Given the description of an element on the screen output the (x, y) to click on. 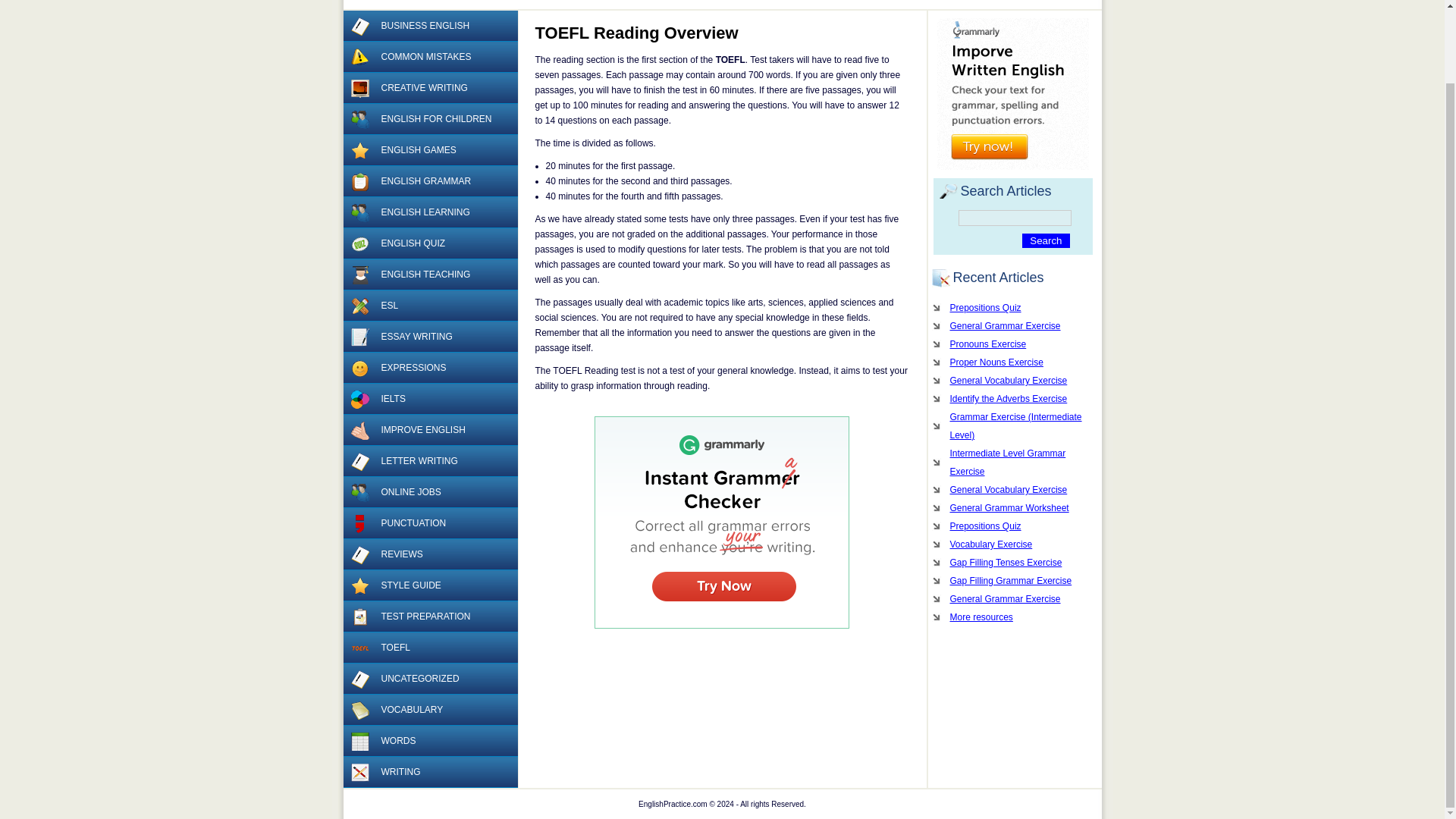
STYLE GUIDE (429, 585)
WRITING (429, 771)
ENGLISH GAMES (429, 150)
WORDS (429, 740)
COMMON MISTAKES (429, 56)
REVIEWS (429, 554)
Pronouns Exercise (1012, 343)
CREATIVE WRITING (429, 88)
Business English (359, 26)
English Learning (359, 212)
ENGLISH LEARNING (429, 212)
General Grammar Exercise (1012, 325)
Creative Writing (359, 88)
English Games (359, 150)
Prepositions Quiz (1012, 307)
